Given the description of an element on the screen output the (x, y) to click on. 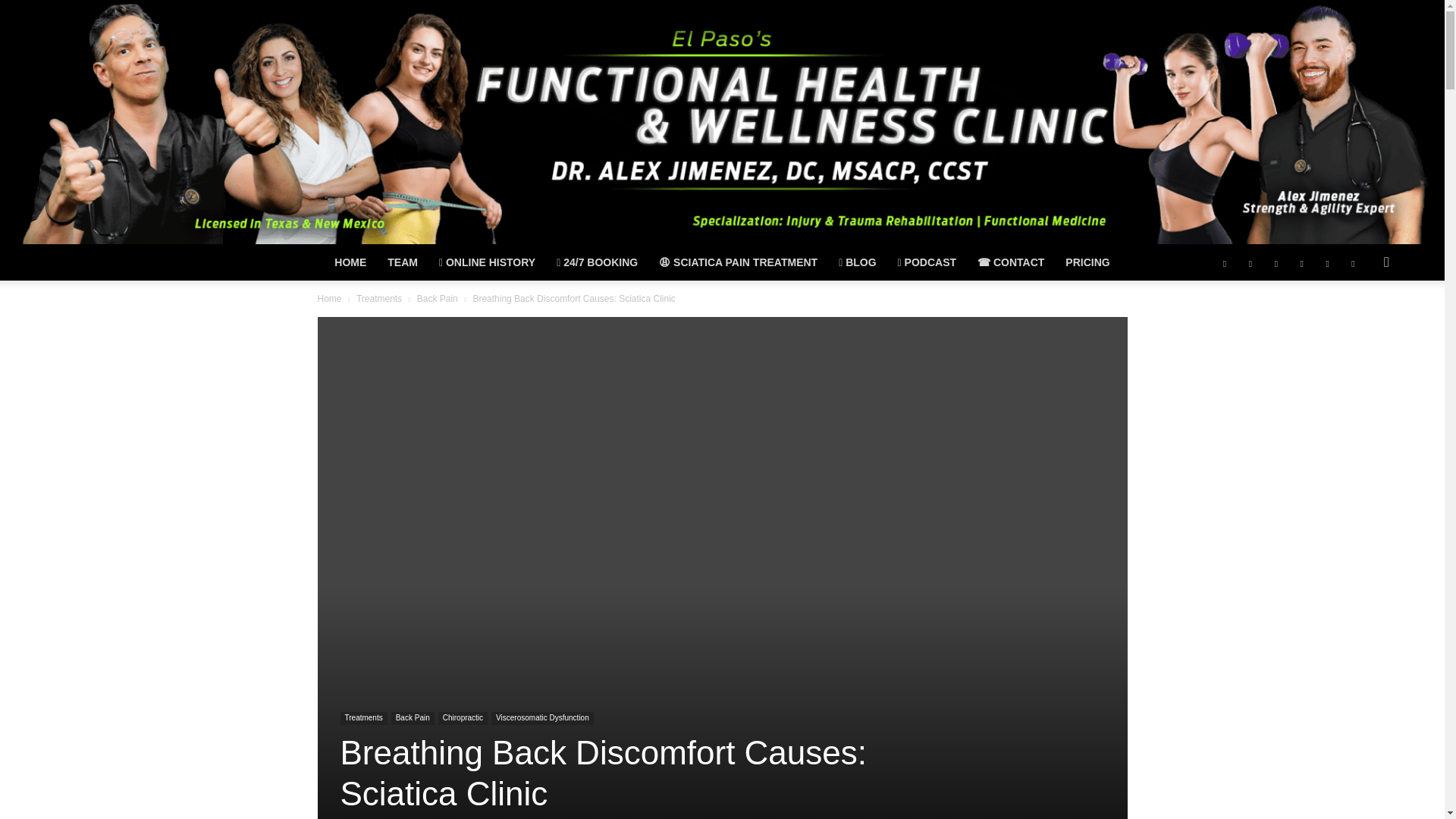
View all posts in Back Pain (437, 298)
TEAM (402, 262)
View all posts in Treatments (378, 298)
HOME (350, 262)
